Given the description of an element on the screen output the (x, y) to click on. 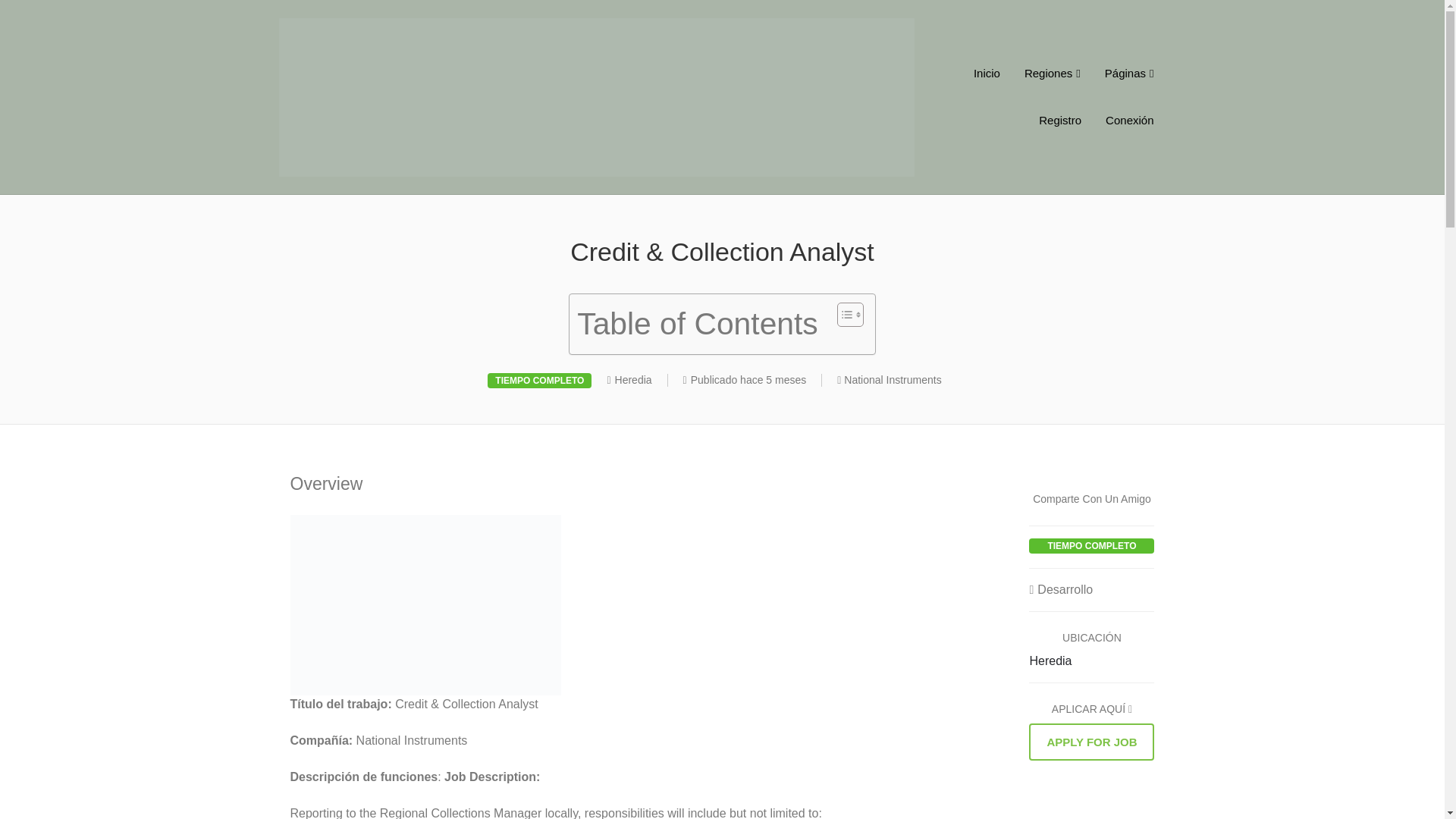
Desarrollo (1061, 589)
APPLY FOR JOB (1091, 741)
Heredia (1050, 660)
Heredia (633, 379)
Registro (1059, 120)
Inicio (985, 73)
Regiones (1052, 73)
National Instruments (892, 379)
